Given the description of an element on the screen output the (x, y) to click on. 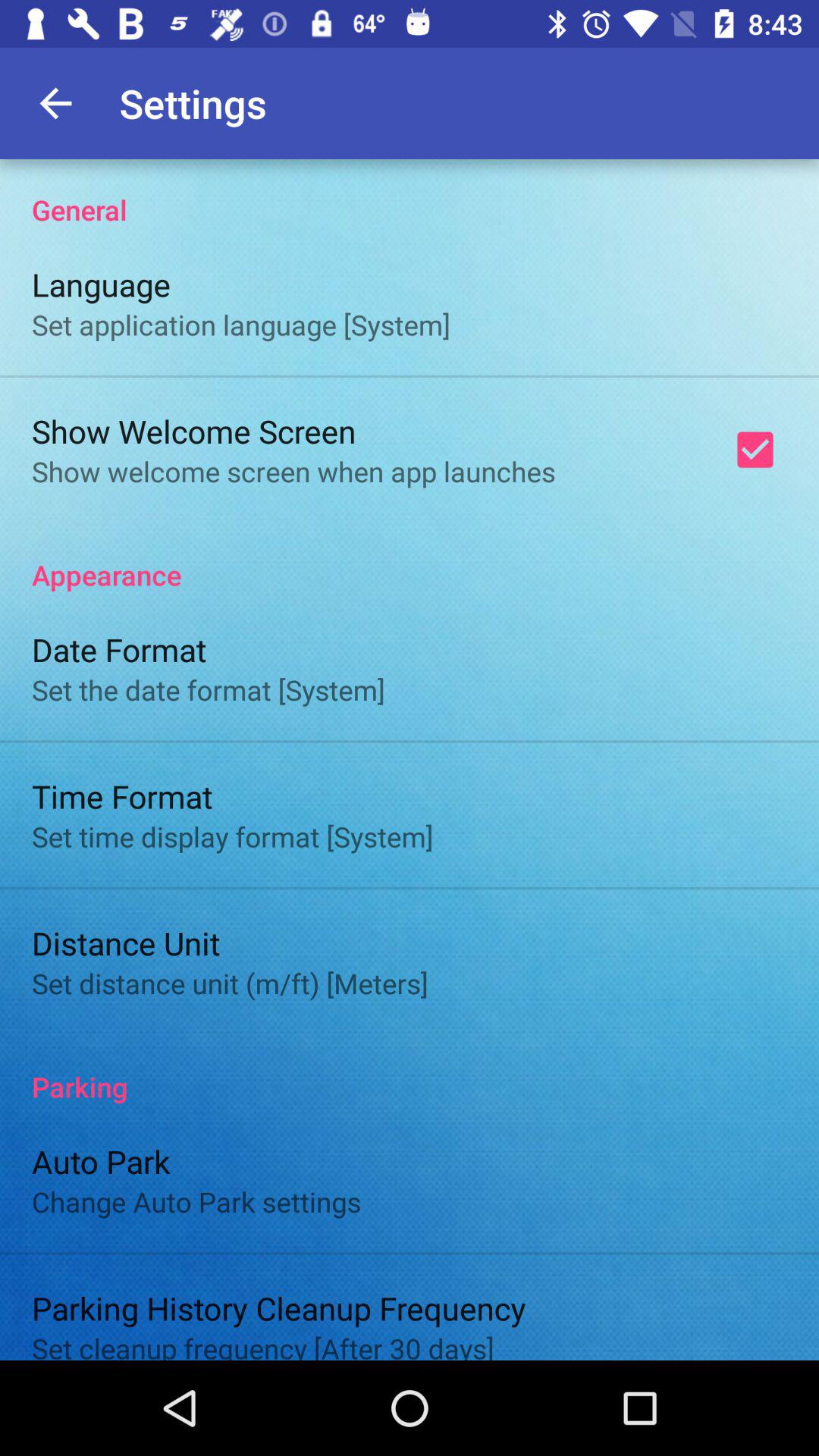
turn off the item next to the show welcome screen icon (755, 449)
